Given the description of an element on the screen output the (x, y) to click on. 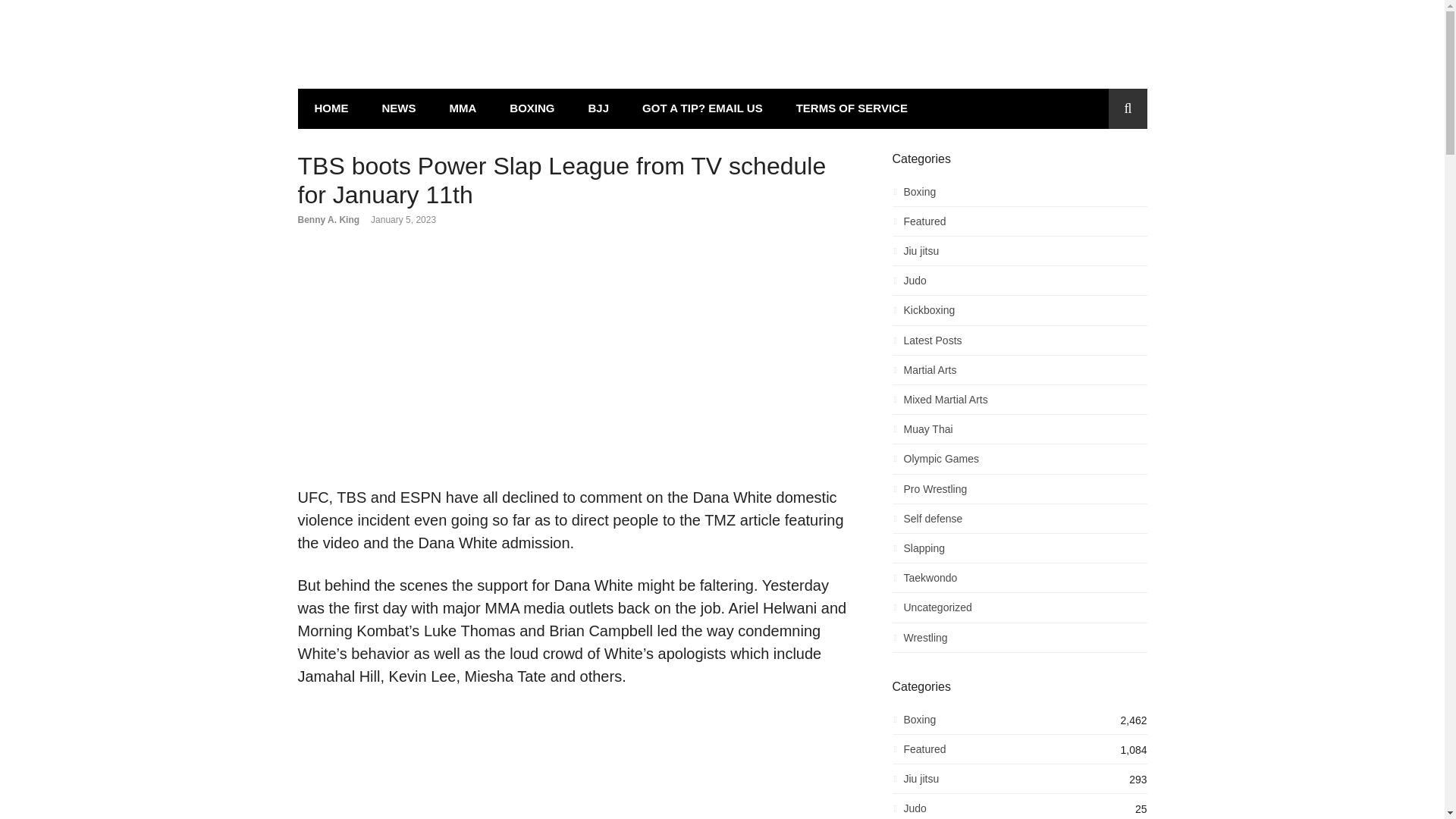
HOME (331, 108)
BOXING (531, 108)
MMA (462, 108)
Pro Wrestling (1019, 493)
Mixed Martial Arts (1019, 403)
Jiu jitsu (1019, 255)
BJJ (599, 108)
Latest Posts (1019, 344)
Muay Thai (1019, 433)
Featured (1019, 225)
Benny A. King (328, 219)
Boxing (1019, 196)
Judo (1019, 284)
Olympic Games (1019, 463)
Martial Arts (1019, 373)
